Given the description of an element on the screen output the (x, y) to click on. 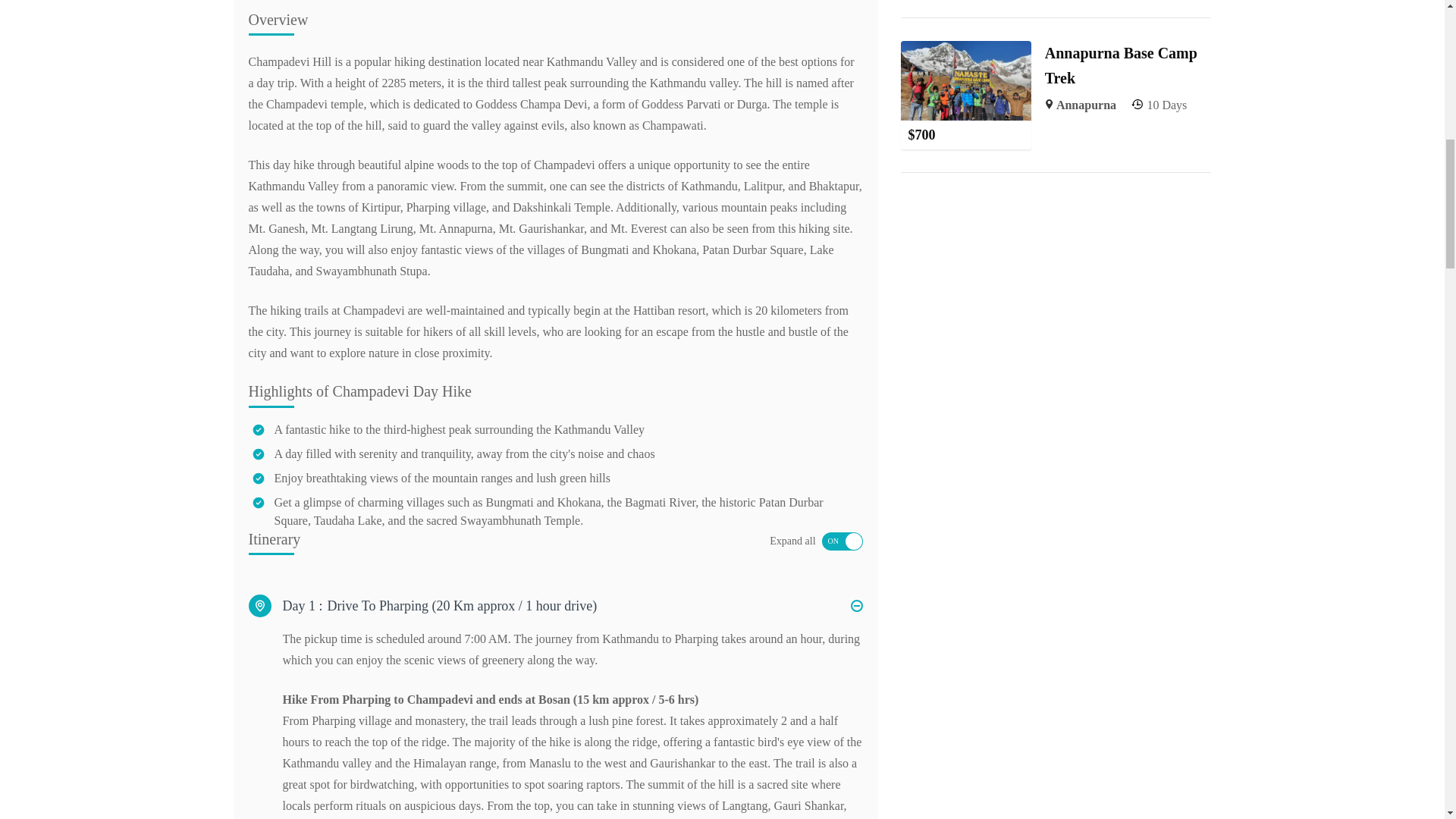
on (842, 541)
